Given the description of an element on the screen output the (x, y) to click on. 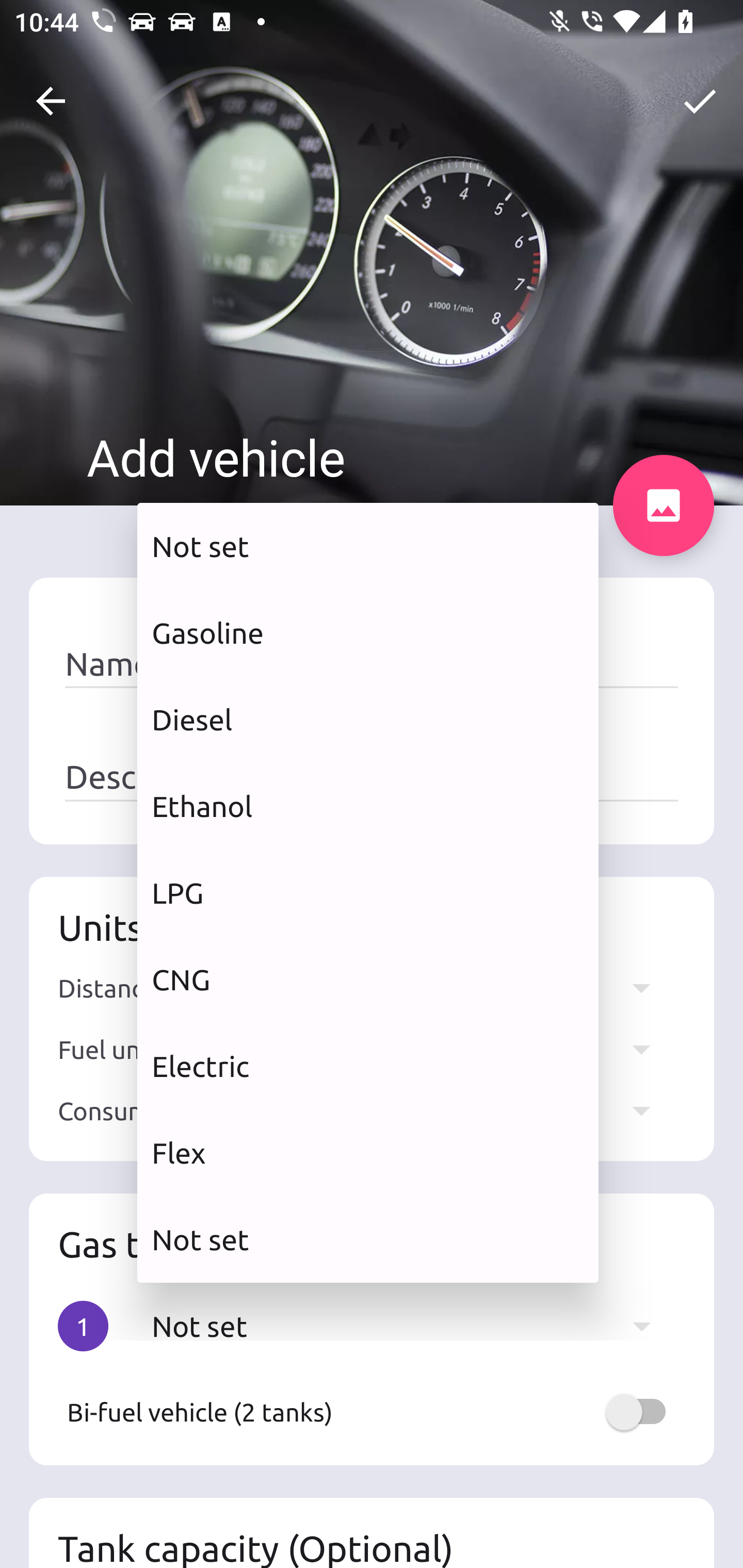
Not set (367, 546)
Gasoline (367, 632)
Diesel (367, 719)
Ethanol (367, 806)
LPG (367, 892)
CNG (367, 979)
Electric (367, 1066)
Flex (367, 1153)
Not set (367, 1239)
